Given the description of an element on the screen output the (x, y) to click on. 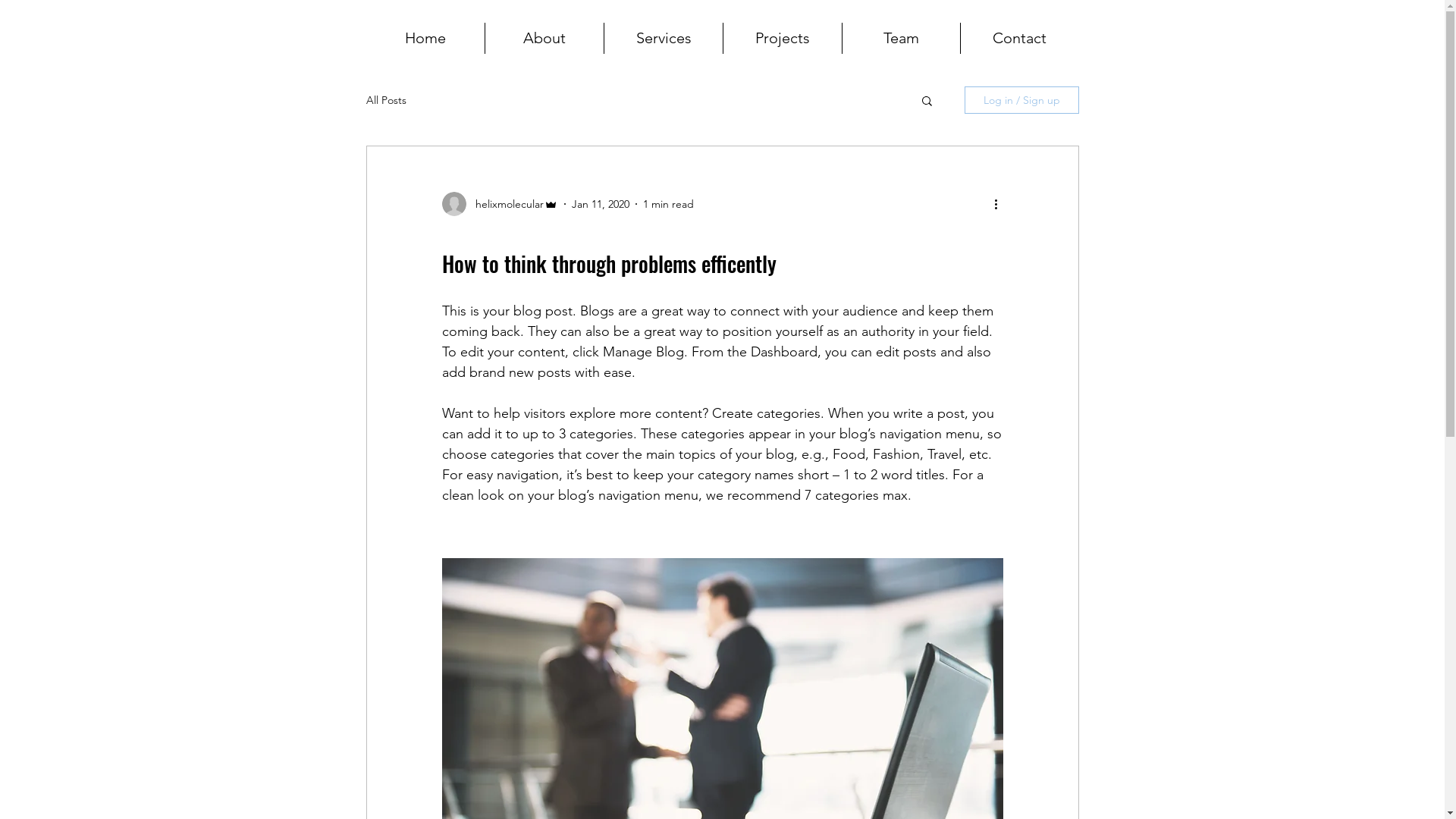
Log in / Sign up Element type: text (1021, 99)
Projects Element type: text (782, 37)
Home Element type: text (424, 37)
Team Element type: text (901, 37)
Services Element type: text (663, 37)
Contact Element type: text (1019, 37)
All Posts Element type: text (385, 99)
About Element type: text (544, 37)
